Given the description of an element on the screen output the (x, y) to click on. 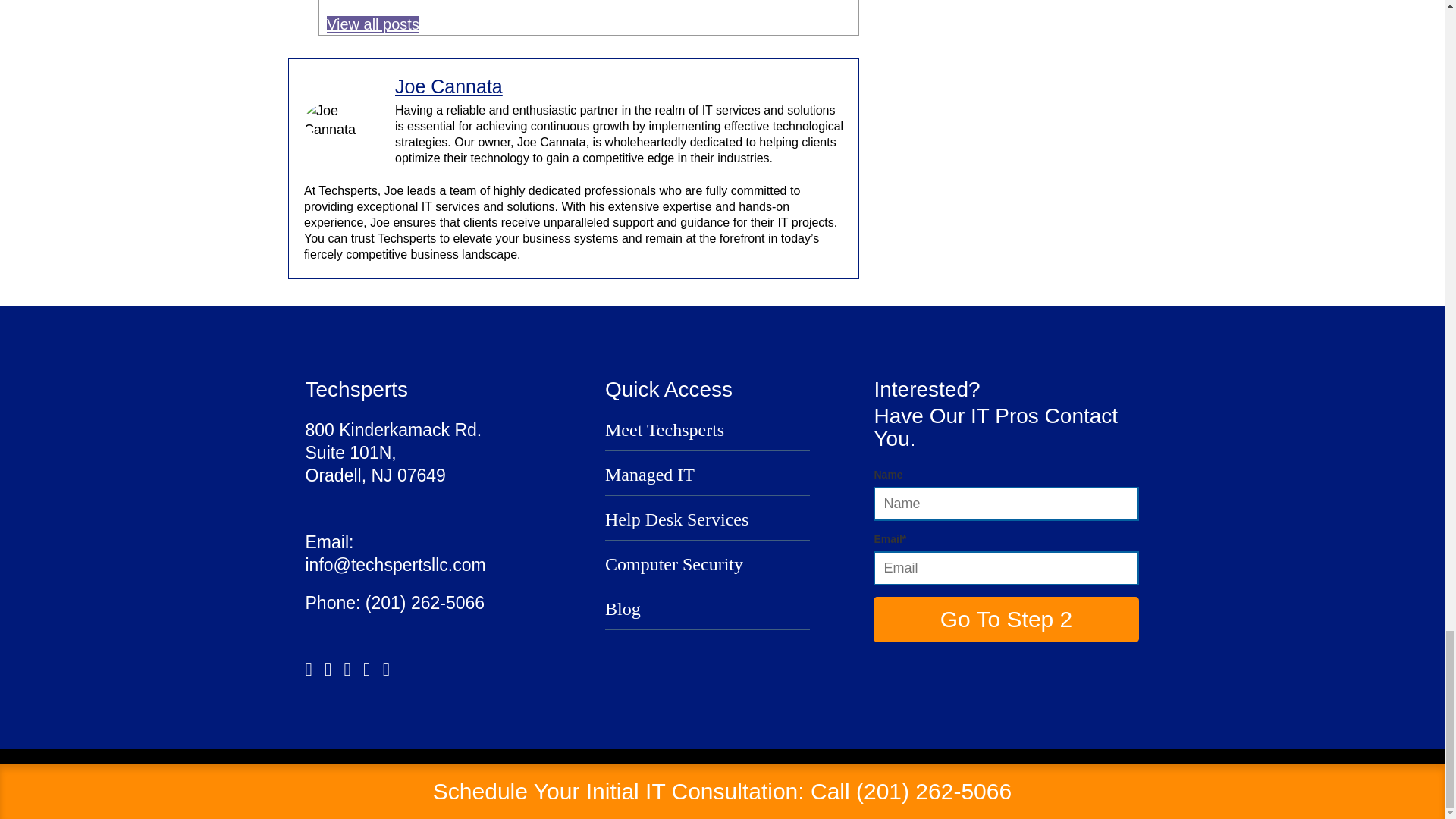
Go to Step 2 (1005, 619)
View all posts (372, 23)
Joe Cannata (448, 86)
View all posts (372, 23)
